Given the description of an element on the screen output the (x, y) to click on. 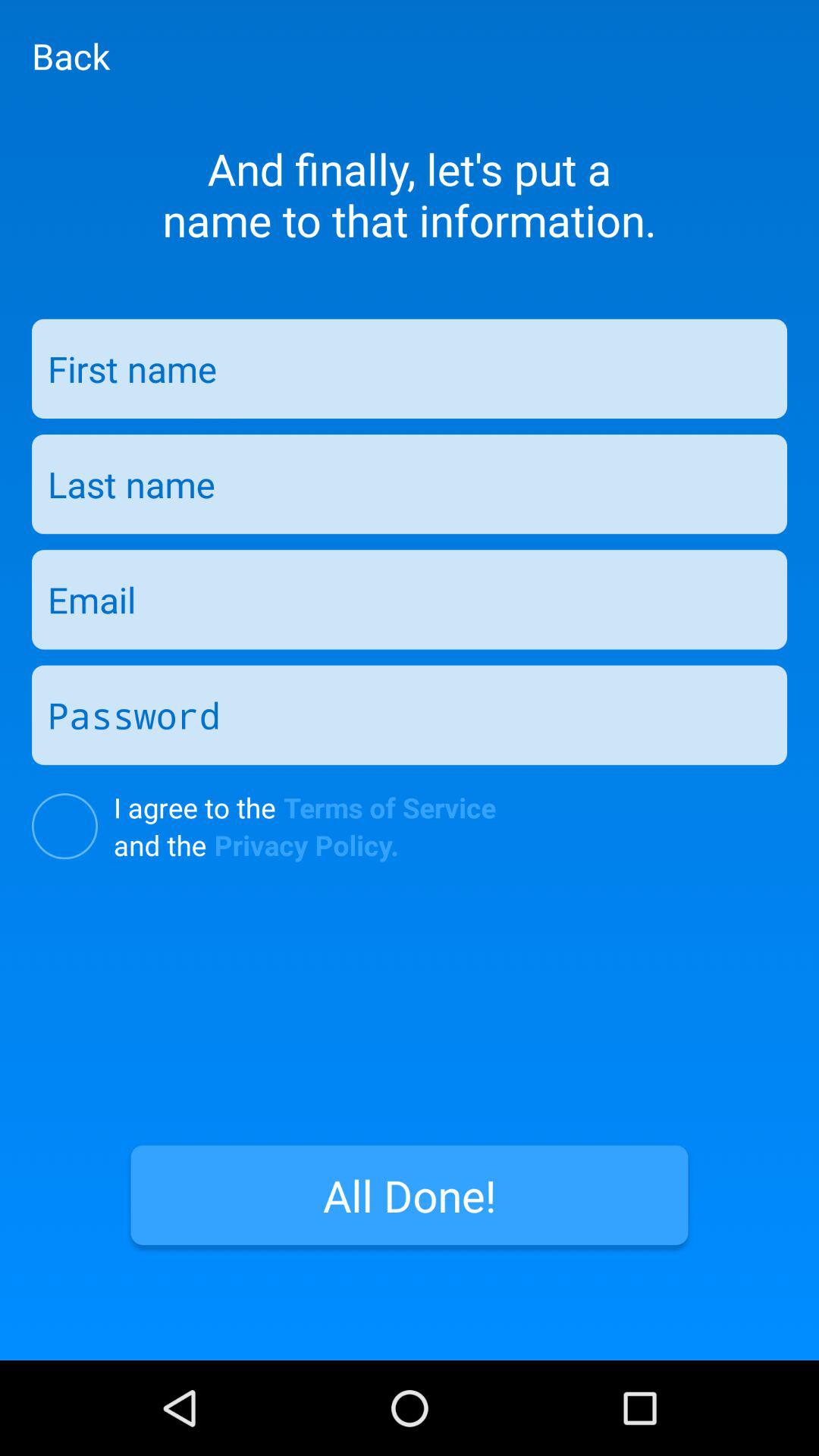
radio button to agree with the terms (64, 826)
